Given the description of an element on the screen output the (x, y) to click on. 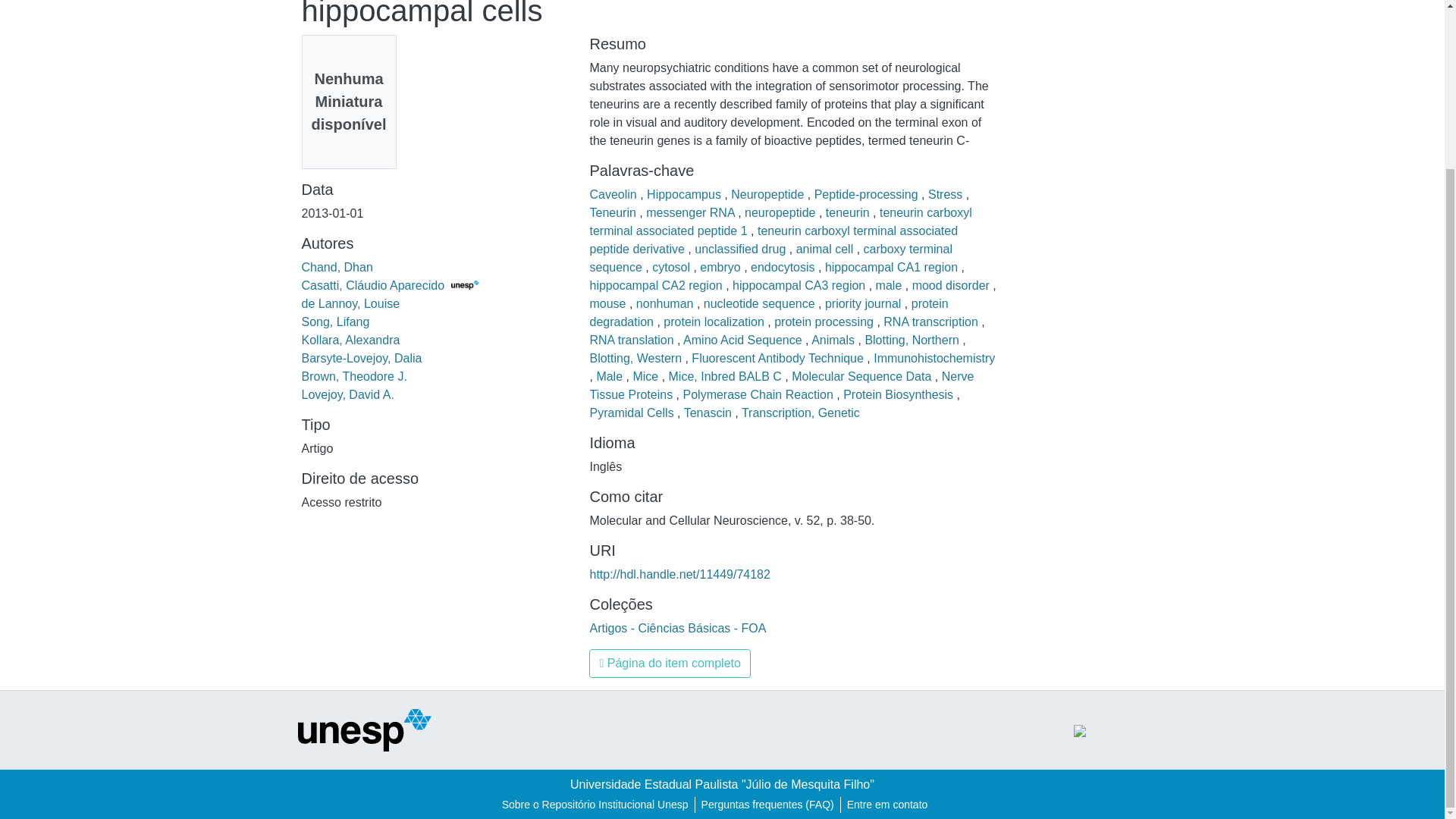
Hippocampus (684, 194)
Song, Lifang (335, 321)
Brown, Theodore J. (354, 376)
Kollara, Alexandra (350, 339)
teneurin carboxyl terminal associated peptide 1 (780, 221)
Caveolin (614, 194)
messenger RNA (692, 212)
Chand, Dhan (336, 267)
Barsyte-Lovejoy, Dalia (361, 358)
Lovejoy, David A. (347, 394)
